Given the description of an element on the screen output the (x, y) to click on. 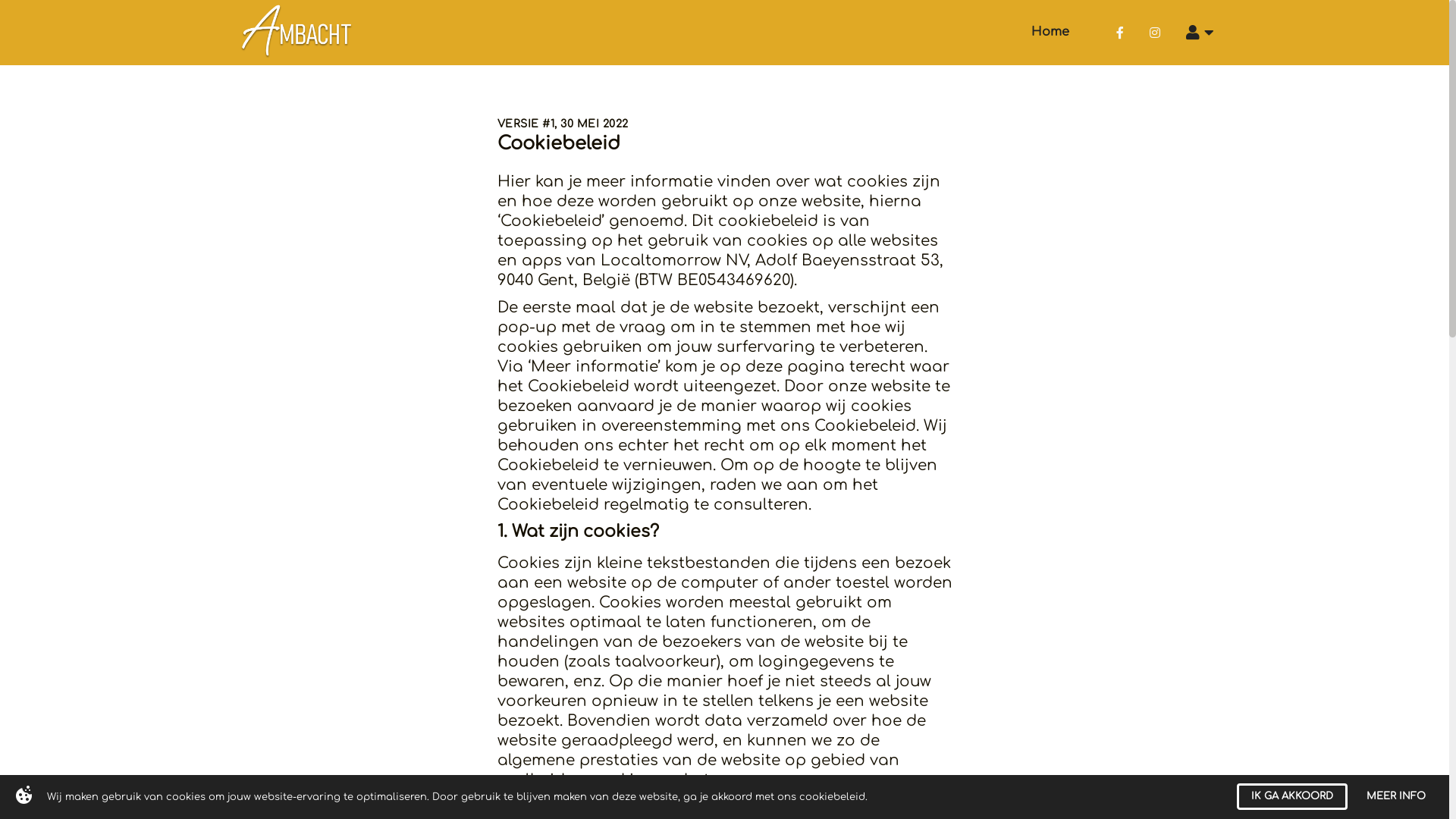
IK GA AKKOORD Element type: text (1291, 796)
Home Element type: text (1050, 32)
MEER INFO Element type: text (1395, 796)
